Given the description of an element on the screen output the (x, y) to click on. 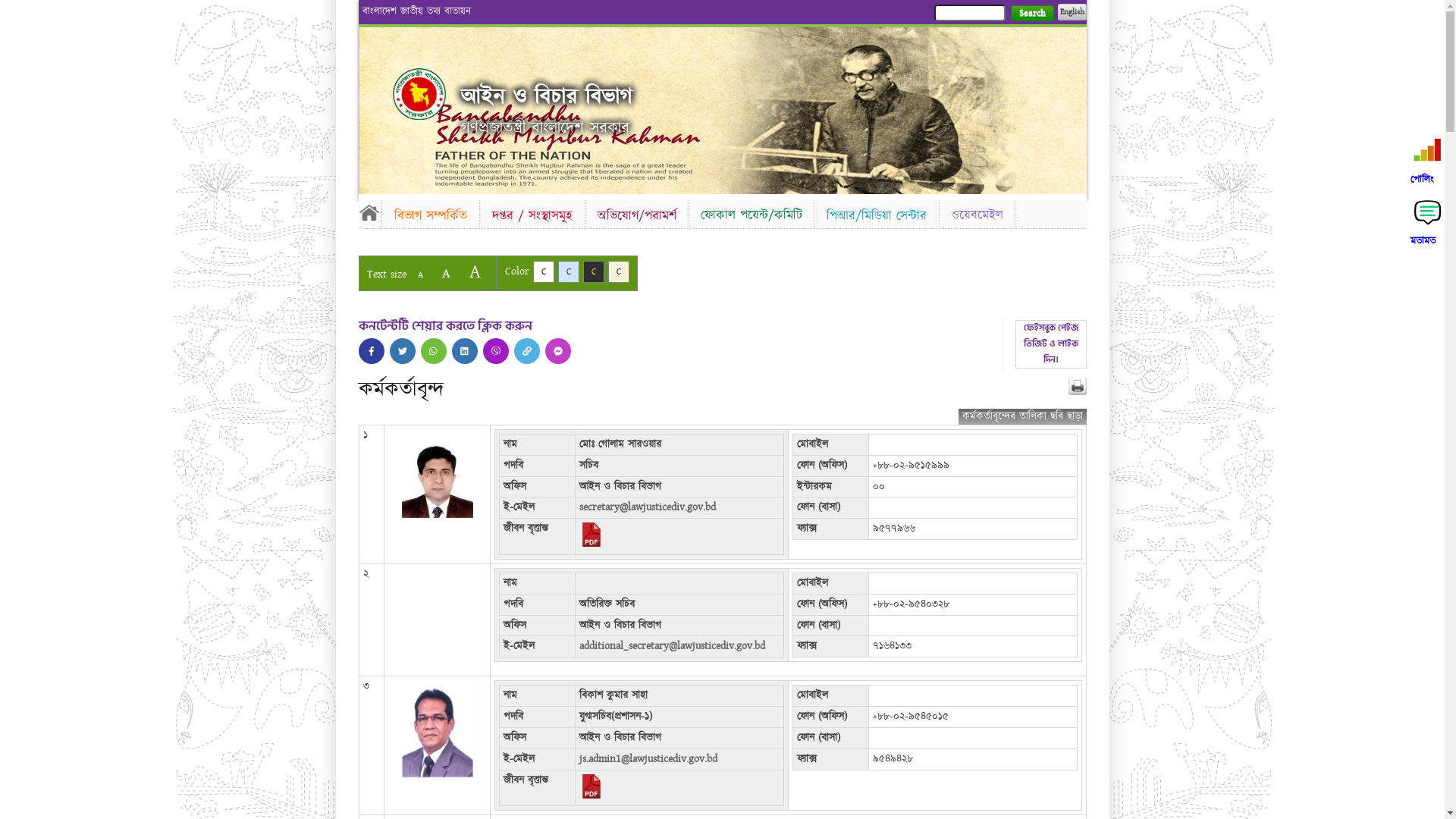
Search Element type: text (1031, 13)
A Element type: text (474, 271)
C Element type: text (568, 271)
additional_secretary@lawjusticediv.gov.bd Element type: text (672, 645)
C Element type: text (542, 271)
js.admin1@lawjusticediv.gov.bd Element type: text (648, 758)
A Element type: text (419, 274)
Home Element type: hover (368, 211)
2023-02-16-06-10-b692844ccf87ef0ad0fd83243ef5b19c.pdf Element type: hover (591, 543)
C Element type: text (618, 271)
C Element type: text (592, 271)
A Element type: text (445, 273)
secretary@lawjusticediv.gov.bd Element type: text (647, 506)
English Element type: text (1071, 11)
Home Element type: hover (418, 93)
